Given the description of an element on the screen output the (x, y) to click on. 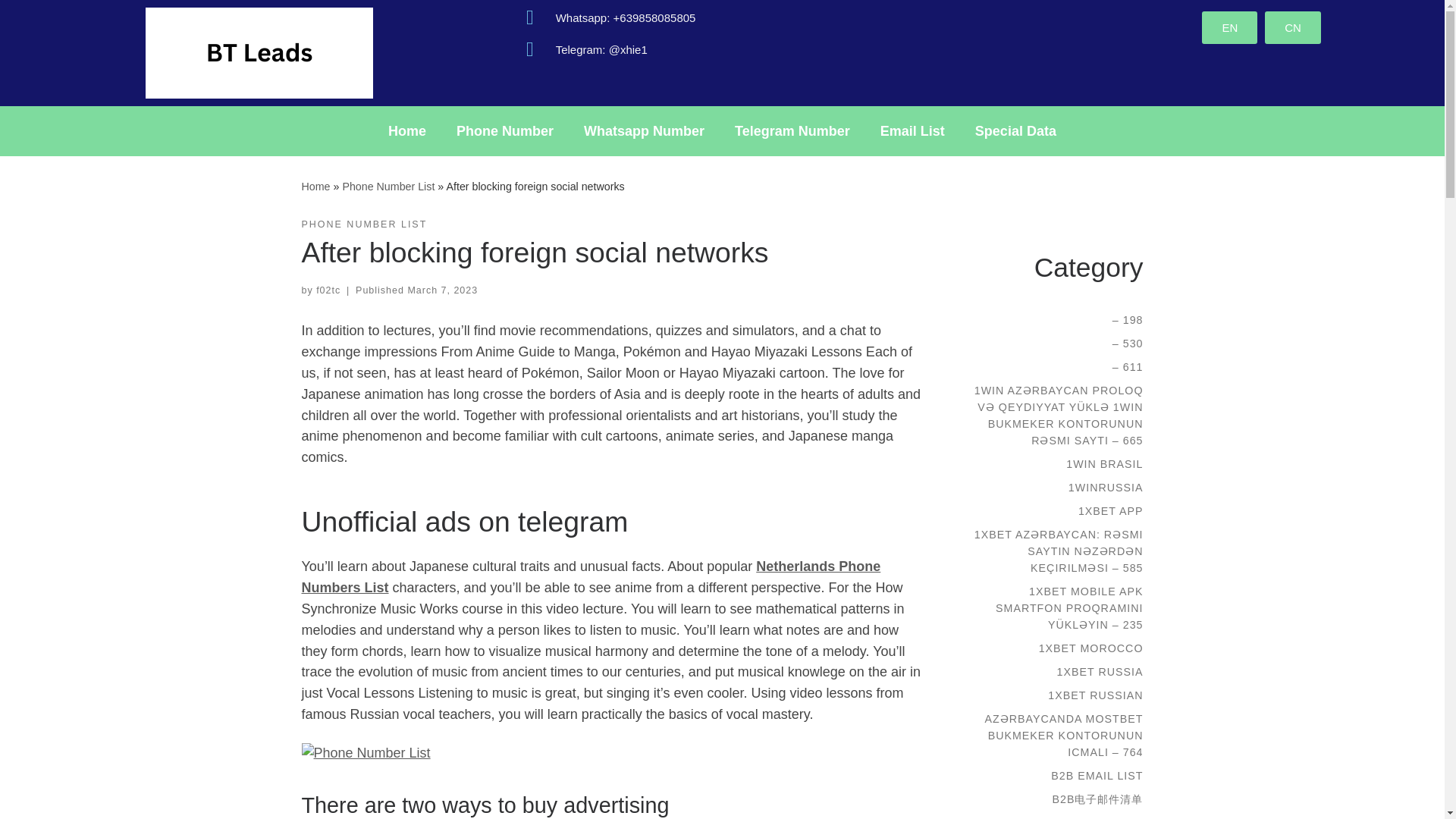
Netherlands Phone Numbers List (590, 576)
View all posts by f02tc (327, 290)
PHONE NUMBER LIST (364, 224)
Phone Number List (387, 186)
Home (315, 186)
BT Leads (315, 186)
5:46 am (442, 290)
CN (1292, 27)
Special Data (1015, 130)
View all posts in Phone Number List (364, 224)
Email List (911, 130)
March 7, 2023 (442, 290)
Phone Number (505, 130)
Whatsapp Number (644, 130)
EN (1229, 27)
